Given the description of an element on the screen output the (x, y) to click on. 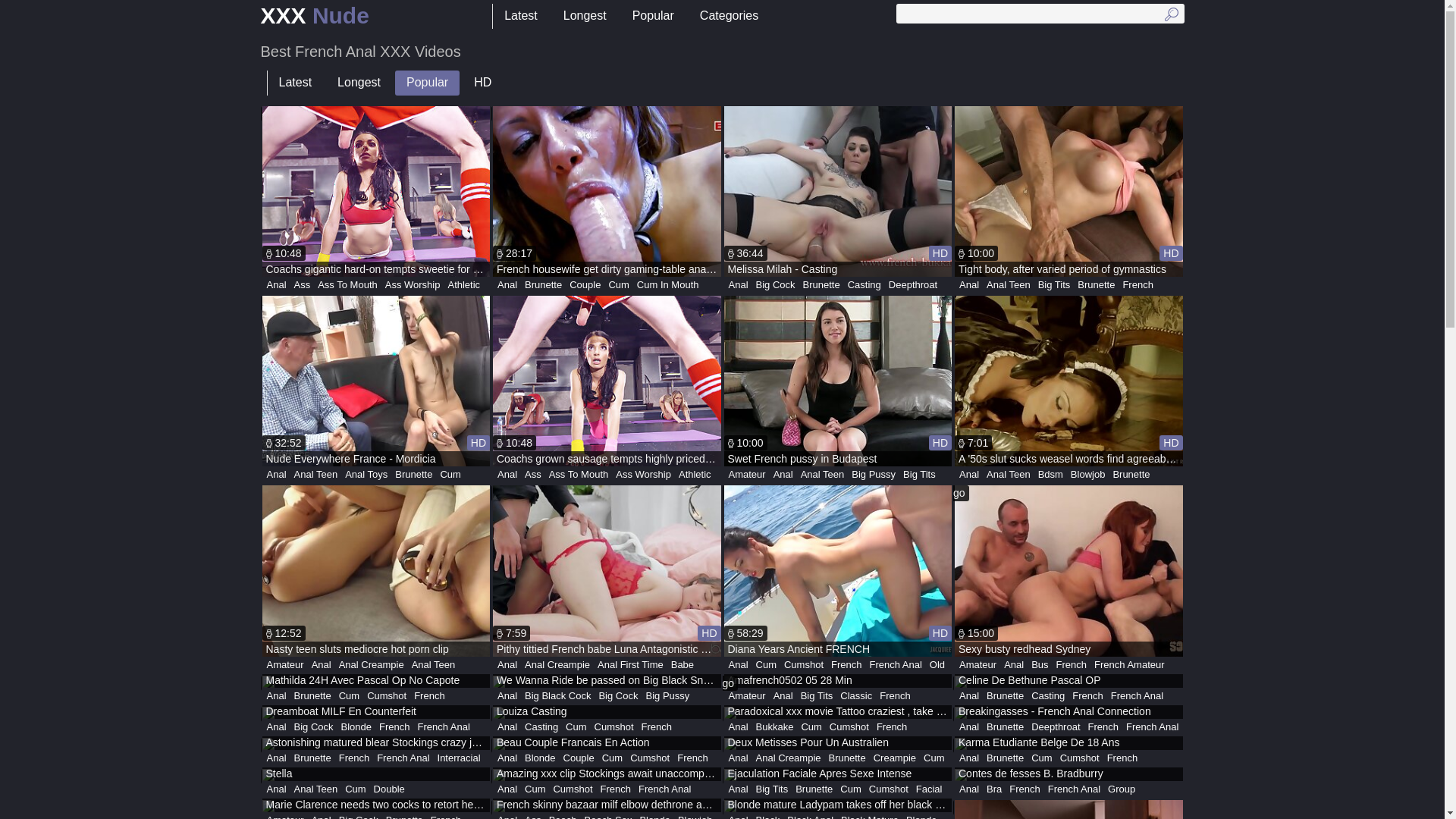
Amateur Element type: text (746, 695)
Anal Element type: text (275, 284)
Stella
921
3 years ago
14:00
HD Element type: text (376, 774)
Big Tits Element type: text (919, 474)
Big Cock Element type: text (313, 726)
French Anal Element type: text (664, 789)
Facial Element type: text (929, 789)
Anal Teen Element type: text (433, 664)
Anal Teen Element type: text (1008, 284)
Big Pussy Element type: text (873, 474)
Big Black Cock Element type: text (557, 695)
Anal Creampie Element type: text (556, 664)
Anal Element type: text (738, 757)
Cum Element type: text (766, 664)
Cum Element type: text (811, 726)
Brunette Element type: text (312, 757)
Popular Element type: text (427, 82)
Couple Element type: text (584, 284)
French Element type: text (656, 726)
Anal Element type: text (968, 757)
Cumshot Element type: text (613, 726)
Anal Element type: text (275, 695)
Bukkake Element type: text (774, 726)
French Anal Element type: text (1137, 695)
Anal Element type: text (506, 474)
Anal Creampie Element type: text (788, 757)
Double Element type: text (389, 789)
Anal Element type: text (275, 474)
Anal Element type: text (275, 757)
Brunette Element type: text (1004, 757)
Deux Metisses Pour Un Australien
831
3 years ago
34:38
HD Element type: text (837, 743)
Anal Element type: text (321, 664)
Amateur Element type: text (746, 474)
Dreamboat MILF En Counterfeit
949
3 years ago
44:03
HD Element type: text (376, 712)
Anal Element type: text (783, 474)
French Element type: text (1103, 726)
French Element type: text (894, 695)
Big Tits Element type: text (1054, 284)
Latest Element type: text (294, 82)
Longest Element type: text (585, 15)
Cumshot Element type: text (649, 757)
Anal Element type: text (1013, 664)
Beau Couple Francais En Action
734
3 years ago
25:17
HD Element type: text (606, 743)
Casting Element type: text (1047, 695)
Celine De Bethune Pascal OP
1080
3 years ago
42:40
HD Element type: text (1068, 681)
Amateur Element type: text (284, 664)
Cumshot Element type: text (1079, 757)
Melissa Milah - Casting
783
3 years ago
36:44
HD Element type: text (837, 191)
Casting Element type: text (540, 726)
French Anal Element type: text (1074, 789)
French Element type: text (692, 757)
Anal Element type: text (275, 789)
Anal Element type: text (968, 474)
Anal Creampie Element type: text (371, 664)
Anal Element type: text (968, 695)
Anal Element type: text (506, 695)
Brunette Element type: text (413, 474)
Amafrench0502 05 28 Min
1668
11 months ago
27:37 Element type: text (837, 681)
Anal Element type: text (506, 284)
Babe Element type: text (682, 664)
HD Element type: text (482, 82)
Swet French pussy in Budapest
1701
3 years ago
10:00
HD Element type: text (837, 380)
Couple Element type: text (578, 757)
XXX Nude Element type: text (314, 16)
Deepthroat Element type: text (1055, 726)
Cum Element type: text (612, 757)
Cum In Mouth Element type: text (667, 284)
Karma Etudiante Belge De 18 Ans
837
3 years ago
50:47
HD Element type: text (1068, 743)
Anal Element type: text (968, 726)
French Element type: text (354, 757)
Anal Element type: text (968, 789)
French Anal Element type: text (443, 726)
Cumshot Element type: text (803, 664)
French Anal Element type: text (403, 757)
Cum Element type: text (534, 789)
Anal Element type: text (506, 664)
French Amateur Element type: text (1129, 664)
Latest Element type: text (520, 15)
Anal Element type: text (738, 789)
Cum Element type: text (575, 726)
Brunette Element type: text (1004, 726)
Louiza Casting
1122
3 years ago
41:08
HD Element type: text (606, 712)
Ass Worship Element type: text (412, 284)
Deepthroat Element type: text (912, 284)
French Anal Element type: text (895, 664)
Anal Element type: text (506, 789)
Blowjob Element type: text (1087, 474)
Anal Toys Element type: text (366, 474)
French Element type: text (846, 664)
French Element type: text (615, 789)
Brunette Element type: text (1004, 695)
Categories Element type: text (728, 15)
Anal Element type: text (738, 664)
Bra Element type: text (993, 789)
Ass Worship Element type: text (642, 474)
Anal Teen Element type: text (316, 474)
Brunette Element type: text (542, 284)
Blonde Element type: text (539, 757)
Ass Element type: text (532, 474)
Sexy busty redhead Sydney
1758
10 months ago
15:00 Element type: text (1068, 570)
Anal Teen Element type: text (822, 474)
Anal Element type: text (738, 284)
Anal Element type: text (738, 726)
Anal Element type: text (275, 726)
French Element type: text (394, 726)
Anal Element type: text (506, 757)
Big Pussy Element type: text (667, 695)
Longest Element type: text (359, 82)
Group Element type: text (1121, 789)
Cum Element type: text (349, 695)
Amateur Element type: text (977, 664)
Blonde Element type: text (356, 726)
French Element type: text (1071, 664)
Ass To Mouth Element type: text (578, 474)
Cumshot Element type: text (386, 695)
French Element type: text (1024, 789)
French Element type: text (1087, 695)
Brunette Element type: text (1130, 474)
French Element type: text (891, 726)
Big Tits Element type: text (817, 695)
French Element type: text (1137, 284)
Ass To Mouth Element type: text (347, 284)
Creampie Element type: text (894, 757)
Ass Element type: text (302, 284)
Cum Element type: text (1041, 757)
Brunette Element type: text (1095, 284)
Athletic Element type: text (463, 284)
Athletic Element type: text (694, 474)
Brunette Element type: text (821, 284)
Casting Element type: text (864, 284)
Classic Element type: text (855, 695)
French Element type: text (429, 695)
Brunette Element type: text (312, 695)
Cum Element type: text (450, 474)
Cum Element type: text (850, 789)
Old Element type: text (936, 664)
Nude Everywhere France - Mordicia
1604
3 years ago
32:52
HD Element type: text (376, 380)
Brunette Element type: text (847, 757)
Big Cock Element type: text (775, 284)
Contes de fesses B. Bradburry
437
1 year ago
1:31:04 Element type: text (1068, 774)
French Anal Element type: text (1152, 726)
Search X Videos Element type: hover (1040, 13)
Big Tits Element type: text (772, 789)
Bdsm Element type: text (1050, 474)
Anal Element type: text (506, 726)
Cum Element type: text (618, 284)
Cumshot Element type: text (848, 726)
French Element type: text (1122, 757)
Bus Element type: text (1039, 664)
Anal Element type: text (968, 284)
Anal Teen Element type: text (316, 789)
Big Cock Element type: text (617, 695)
Brunette Element type: text (813, 789)
Cum Element type: text (933, 757)
Diana Years Ancient FRENCH
1758
3 years ago
58:29
HD Element type: text (837, 570)
Anal Element type: text (783, 695)
Cum Element type: text (355, 789)
Interracial Element type: text (458, 757)
Anal Teen Element type: text (1008, 474)
Cumshot Element type: text (888, 789)
Popular Element type: text (653, 15)
Cumshot Element type: text (572, 789)
Anal First Time Element type: text (630, 664)
